Given the description of an element on the screen output the (x, y) to click on. 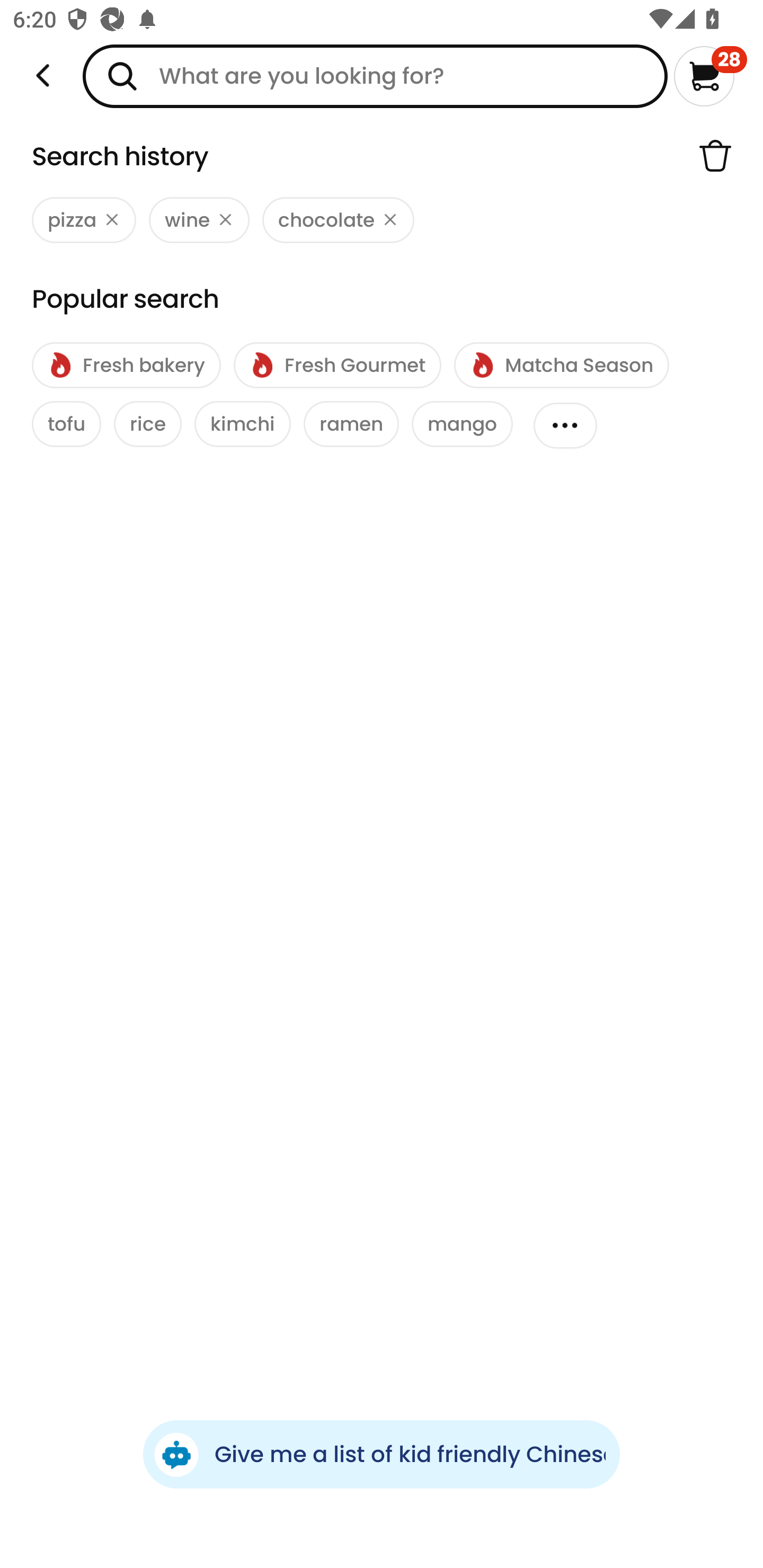
What are you looking for? (374, 75)
28 (709, 75)
Weee! (42, 76)
pizza (83, 220)
wine (198, 220)
chocolate (338, 220)
Fresh bakery (126, 364)
Fresh Gourmet (337, 364)
Matcha Season (561, 364)
tofu (66, 423)
rice (147, 423)
kimchi (242, 423)
ramen (351, 423)
mango (462, 423)
